Given the description of an element on the screen output the (x, y) to click on. 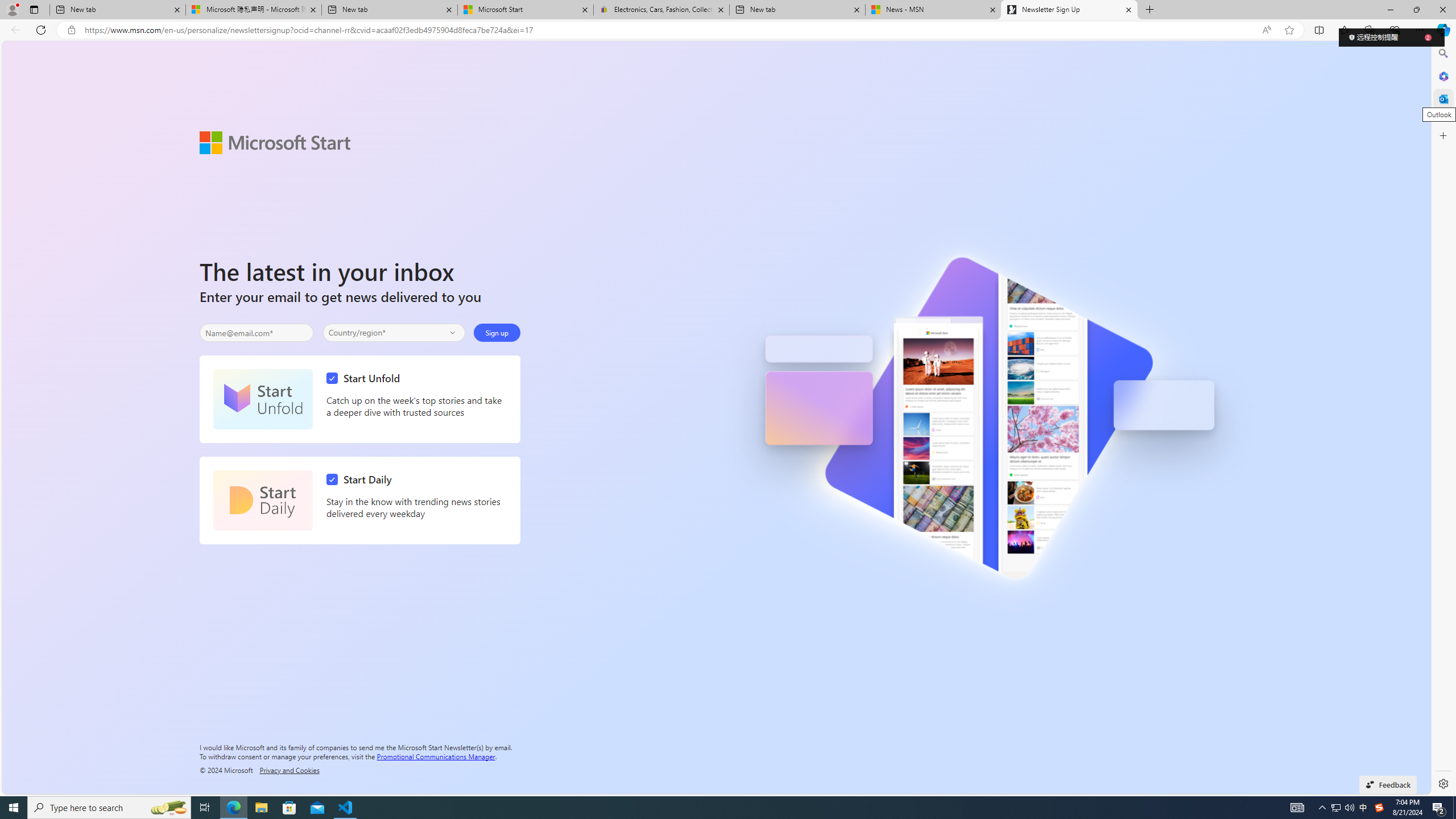
Select your country (393, 332)
News - MSN (933, 9)
Start Daily (262, 500)
Start Unfold (262, 399)
